Given the description of an element on the screen output the (x, y) to click on. 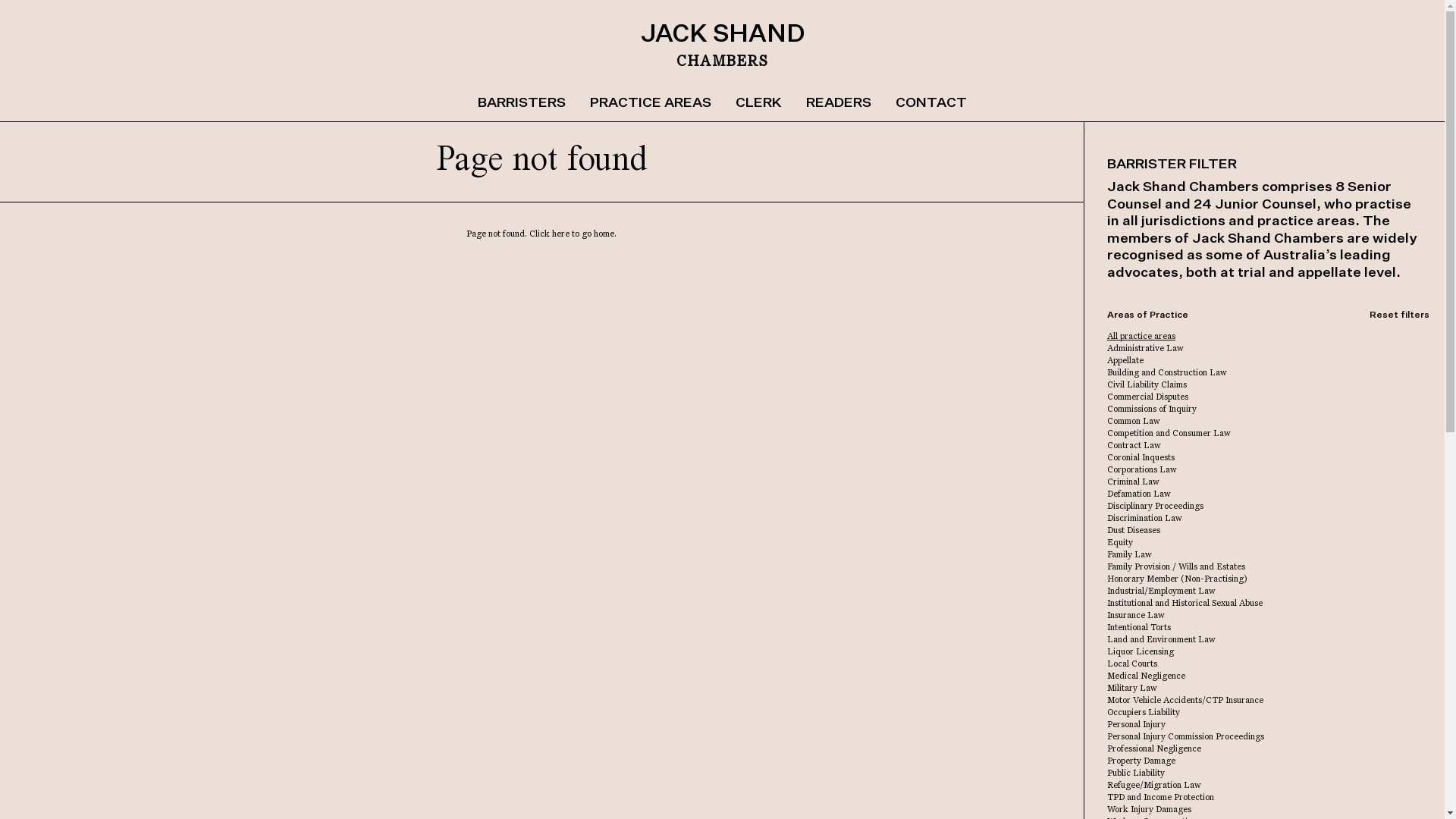
PRACTICE AREAS Element type: text (650, 102)
CLERK Element type: text (758, 102)
here Element type: text (560, 233)
CONTACT Element type: text (930, 102)
READERS Element type: text (838, 102)
JACK SHAND
CHAMBERS Element type: text (721, 45)
Reset filters Element type: text (1399, 315)
BARRISTERS Element type: text (521, 102)
